Given the description of an element on the screen output the (x, y) to click on. 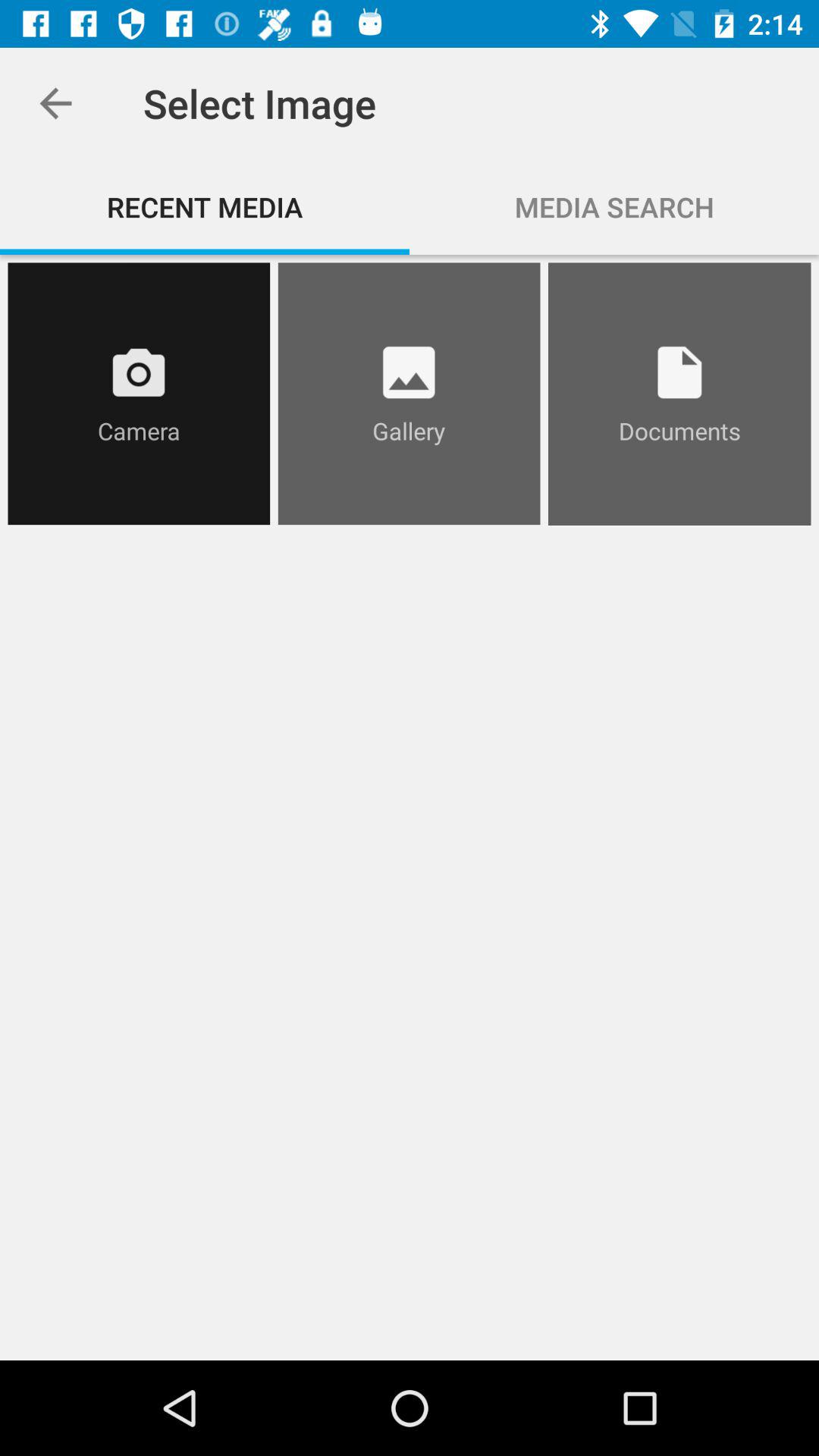
press the icon above recent media (55, 103)
